Given the description of an element on the screen output the (x, y) to click on. 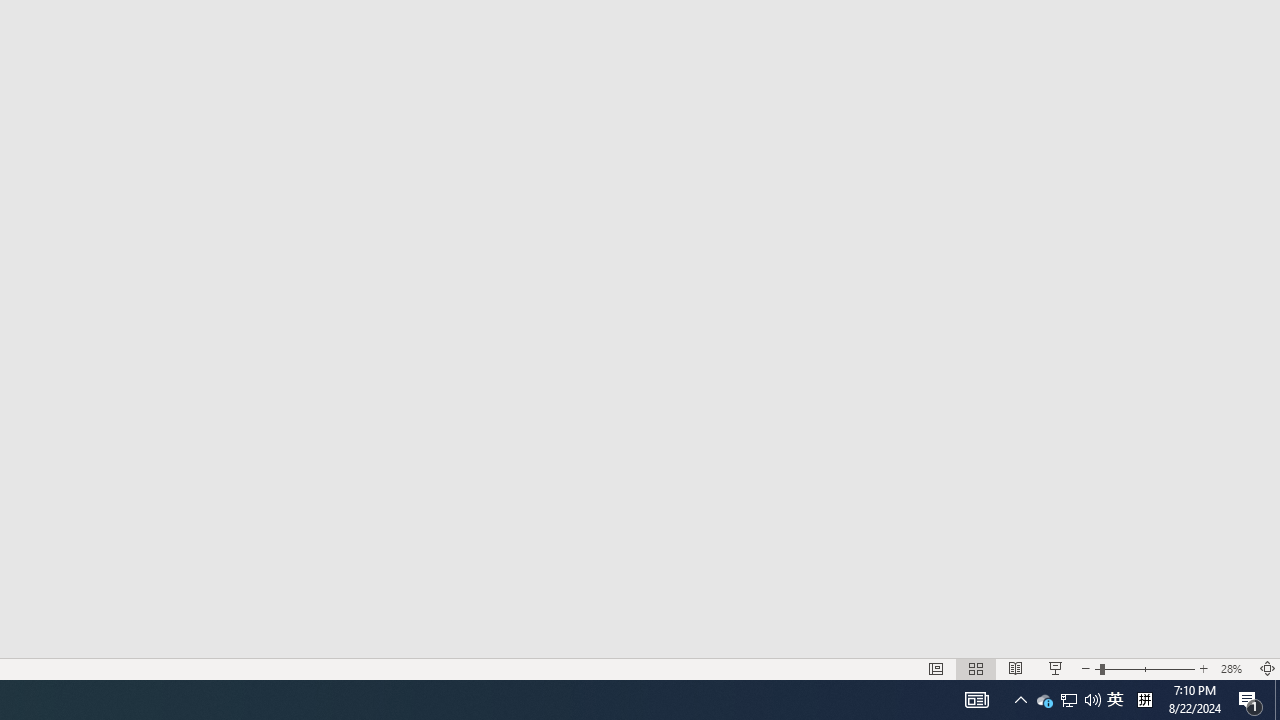
Zoom 28% (1234, 668)
